Given the description of an element on the screen output the (x, y) to click on. 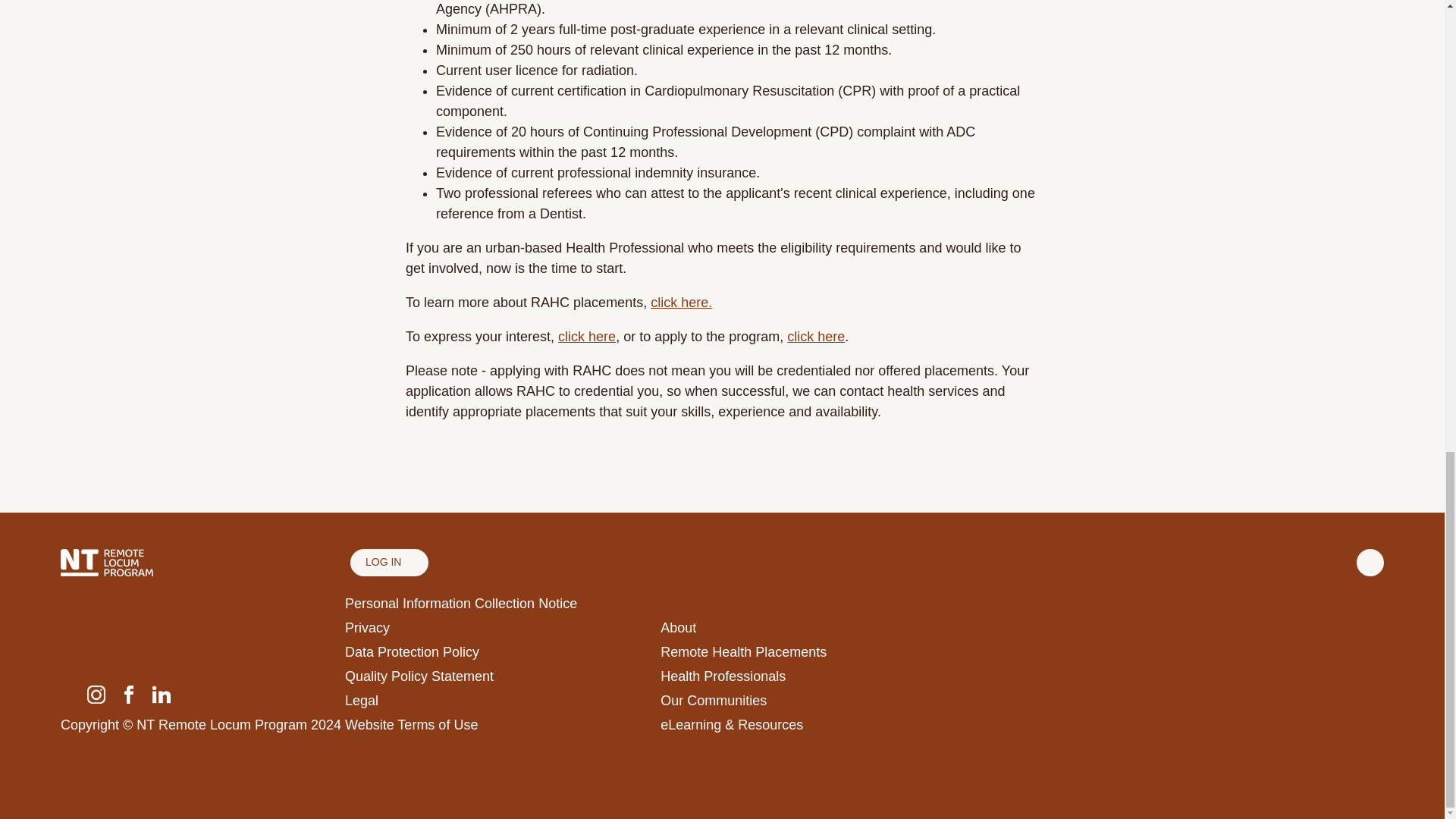
click here (815, 336)
Instagram (95, 693)
LOG IN (389, 562)
Facebook (128, 693)
LinkedIn (161, 693)
click here (586, 336)
Personal Information Collection Notice (460, 603)
click here. (680, 302)
